Given the description of an element on the screen output the (x, y) to click on. 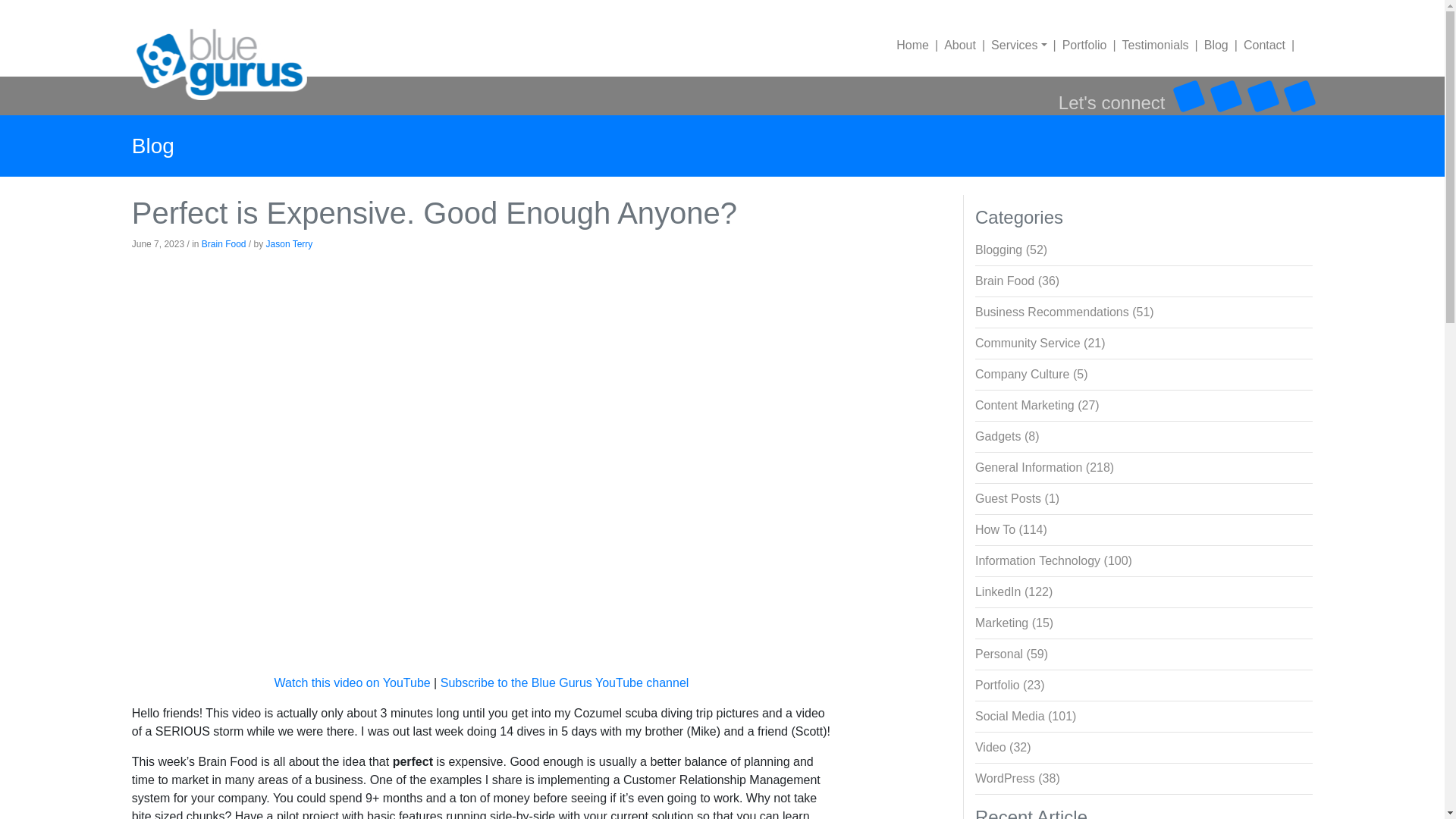
About (951, 45)
Home (912, 45)
Testimonials (1147, 45)
Services (1010, 45)
Watch this video on YouTube (352, 682)
Subscribe to the Blue Gurus YouTube channel (564, 682)
Home (912, 45)
Portfolio (1076, 45)
Jason Terry (289, 244)
Blog (1208, 45)
